Given the description of an element on the screen output the (x, y) to click on. 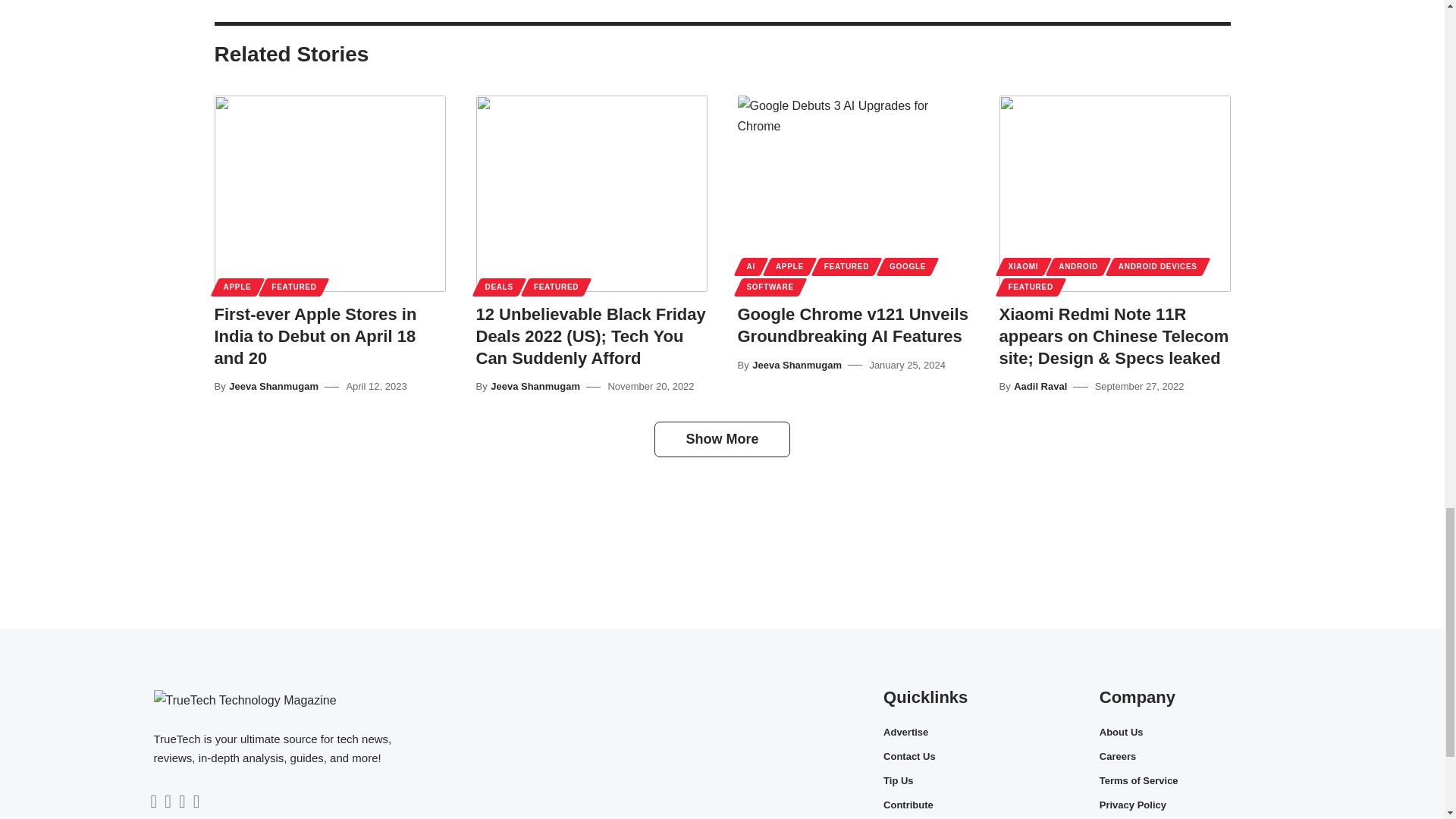
First-ever Apple Stores in India to Debut on April 18 and 20 (329, 193)
Google Chrome v121 Unveils Groundbreaking AI Features (852, 193)
